Given the description of an element on the screen output the (x, y) to click on. 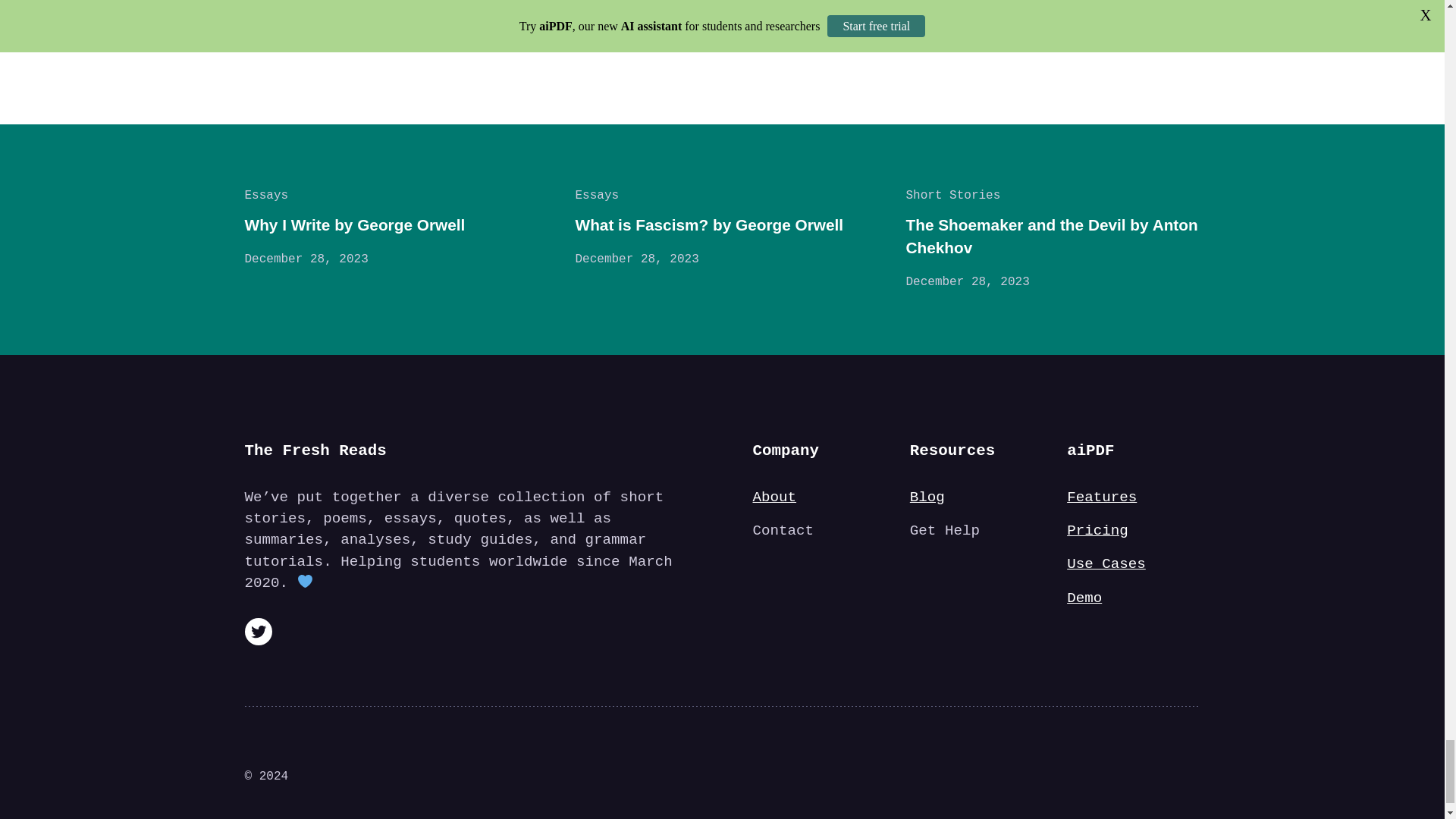
The Wood-Pile by Robert Frost (602, 11)
